Given the description of an element on the screen output the (x, y) to click on. 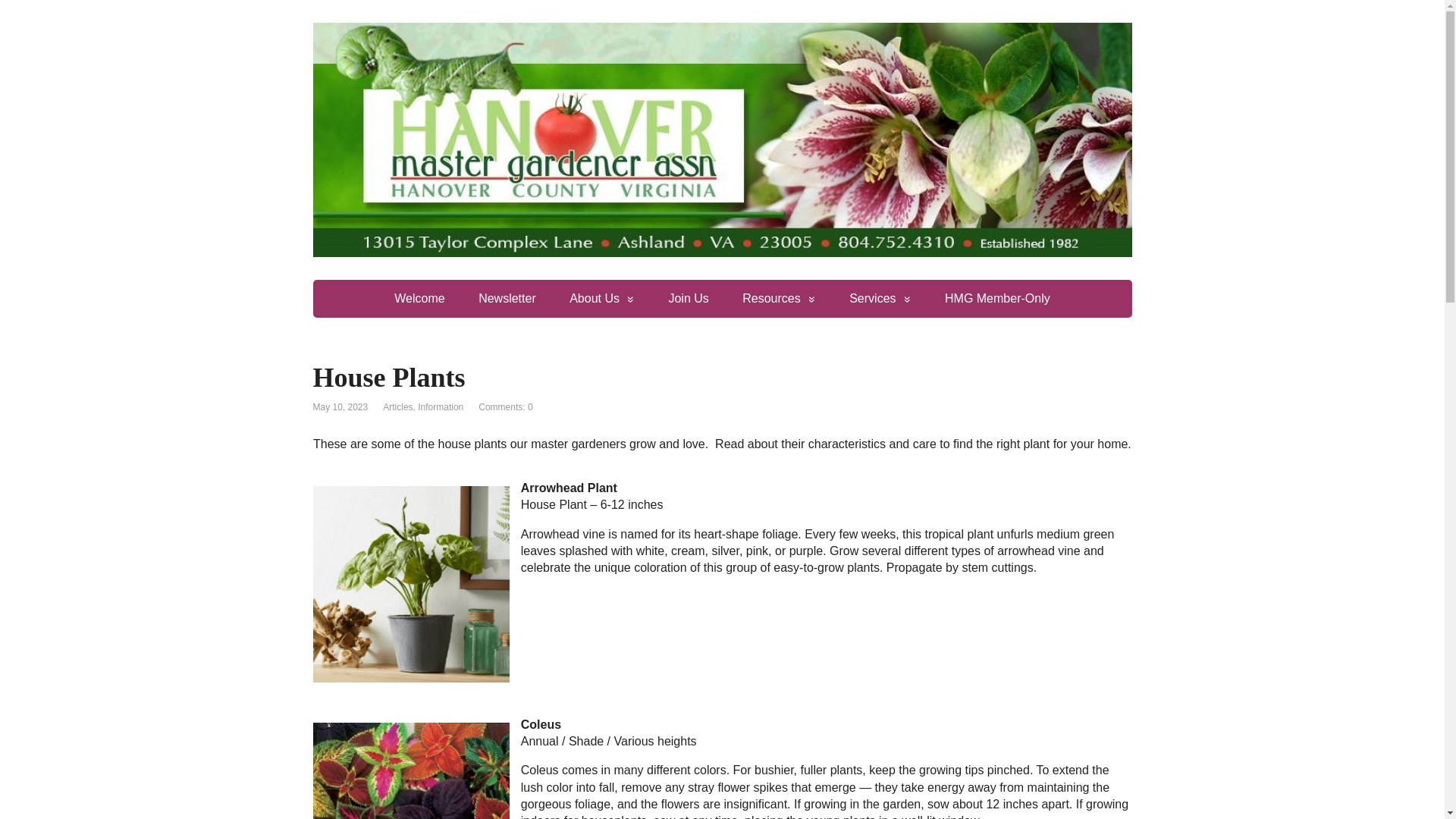
Comments: 0 (505, 407)
Services (880, 298)
Join Us (687, 298)
HMG Member-Only (997, 298)
Resources (777, 298)
Welcome (419, 298)
About Us (601, 298)
Newsletter (507, 298)
Articles (397, 407)
Information (440, 407)
